Given the description of an element on the screen output the (x, y) to click on. 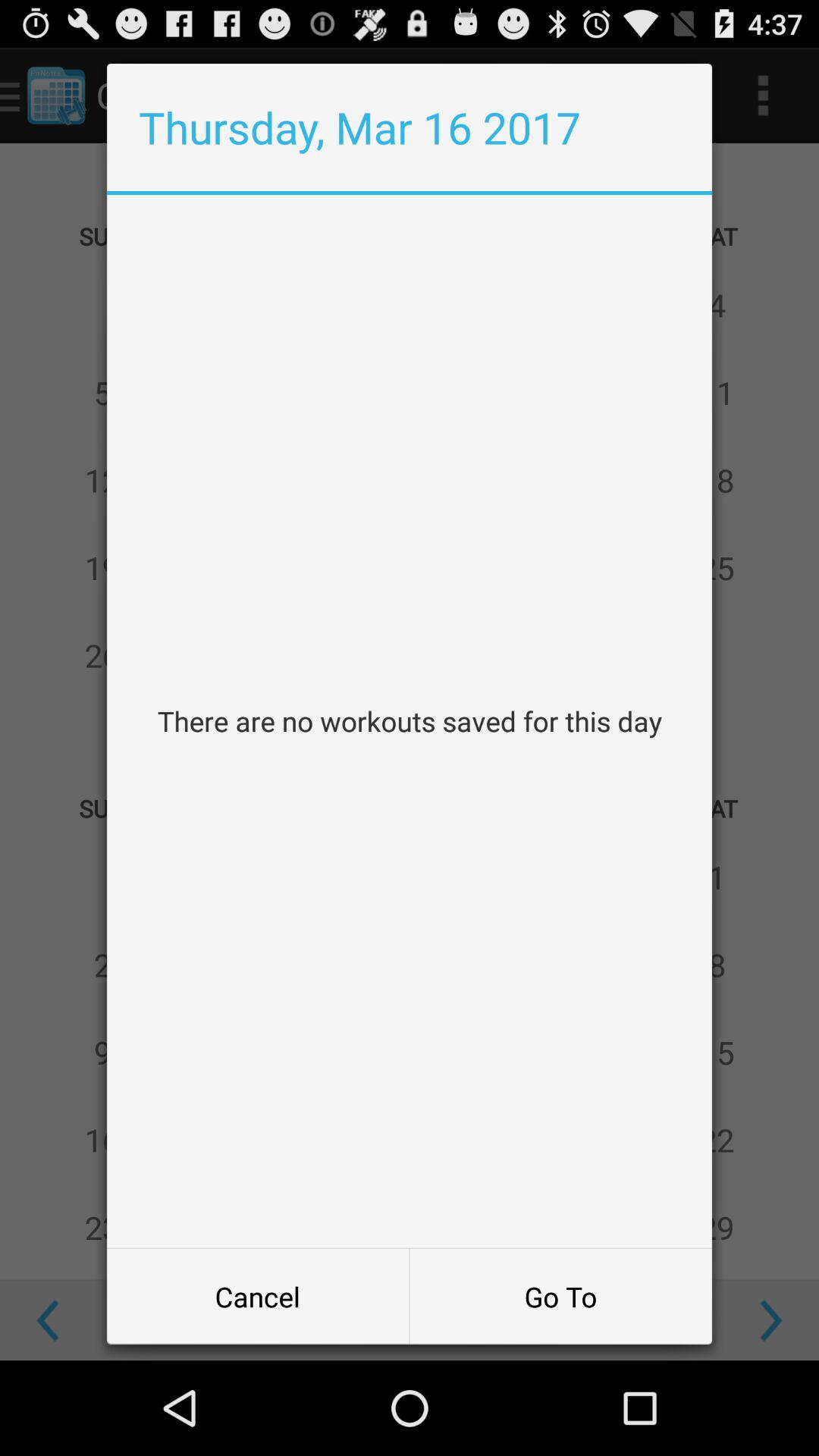
jump until the cancel item (257, 1296)
